Given the description of an element on the screen output the (x, y) to click on. 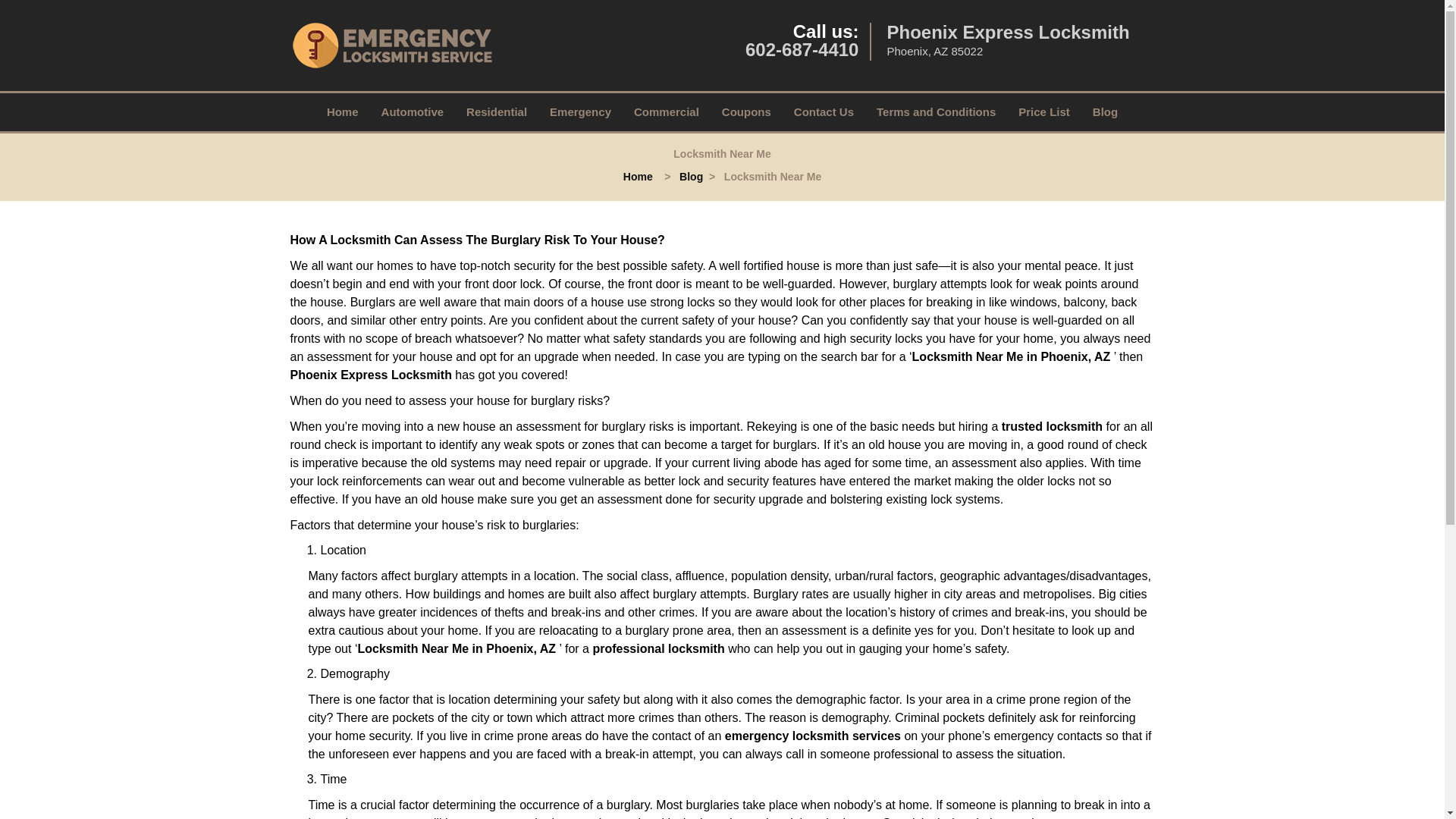
Automotive (412, 112)
Home (342, 112)
Home (637, 176)
Blog (1105, 112)
Price List (1044, 112)
Terms and Conditions (935, 112)
Blog (691, 176)
Emergency (580, 112)
602-687-4410 (802, 49)
Contact Us (823, 112)
Residential (496, 112)
Coupons (746, 112)
Commercial (666, 112)
